Given the description of an element on the screen output the (x, y) to click on. 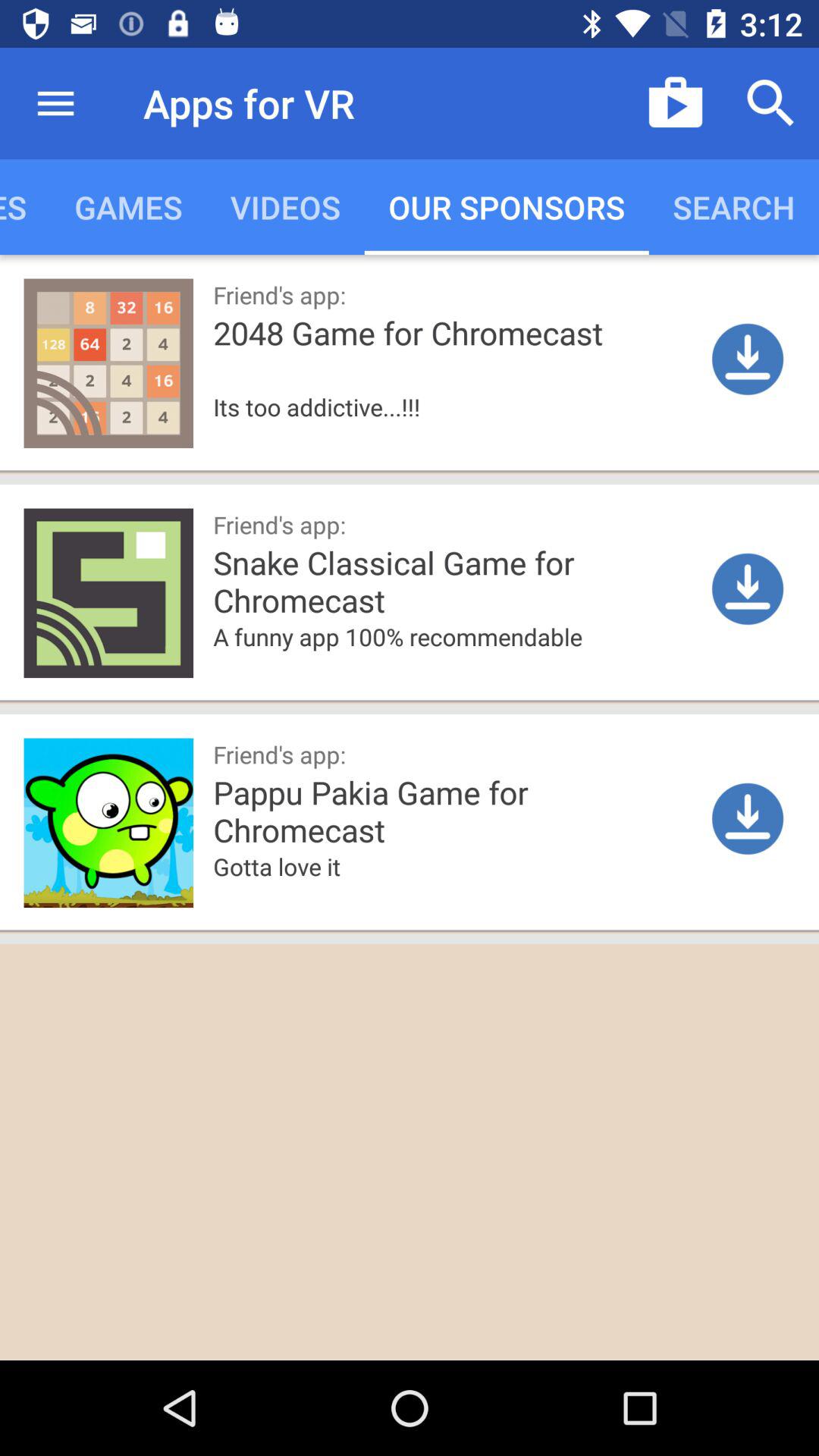
scroll to pappu pakia game (508, 810)
